Given the description of an element on the screen output the (x, y) to click on. 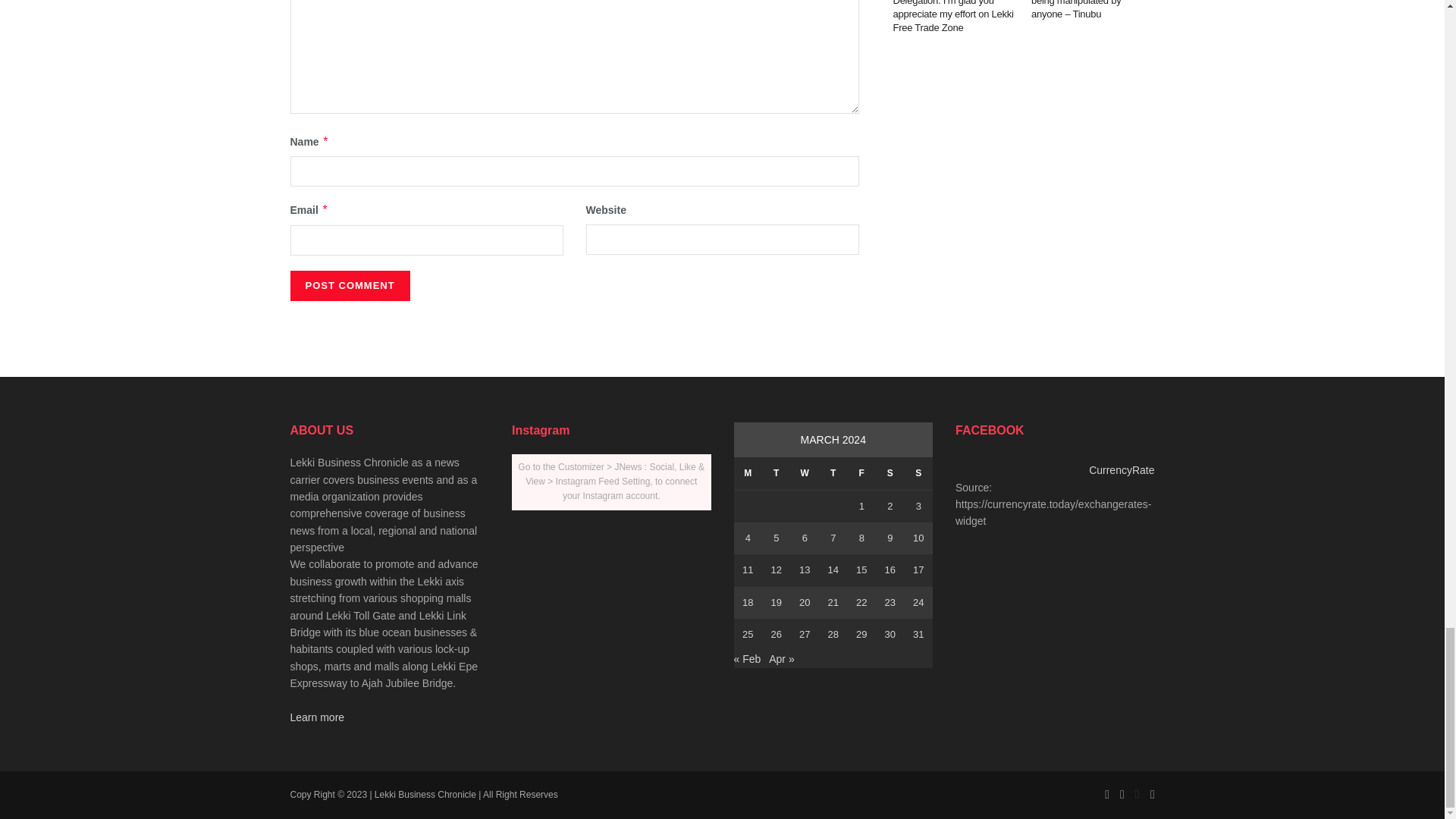
Post Comment (349, 286)
